Given the description of an element on the screen output the (x, y) to click on. 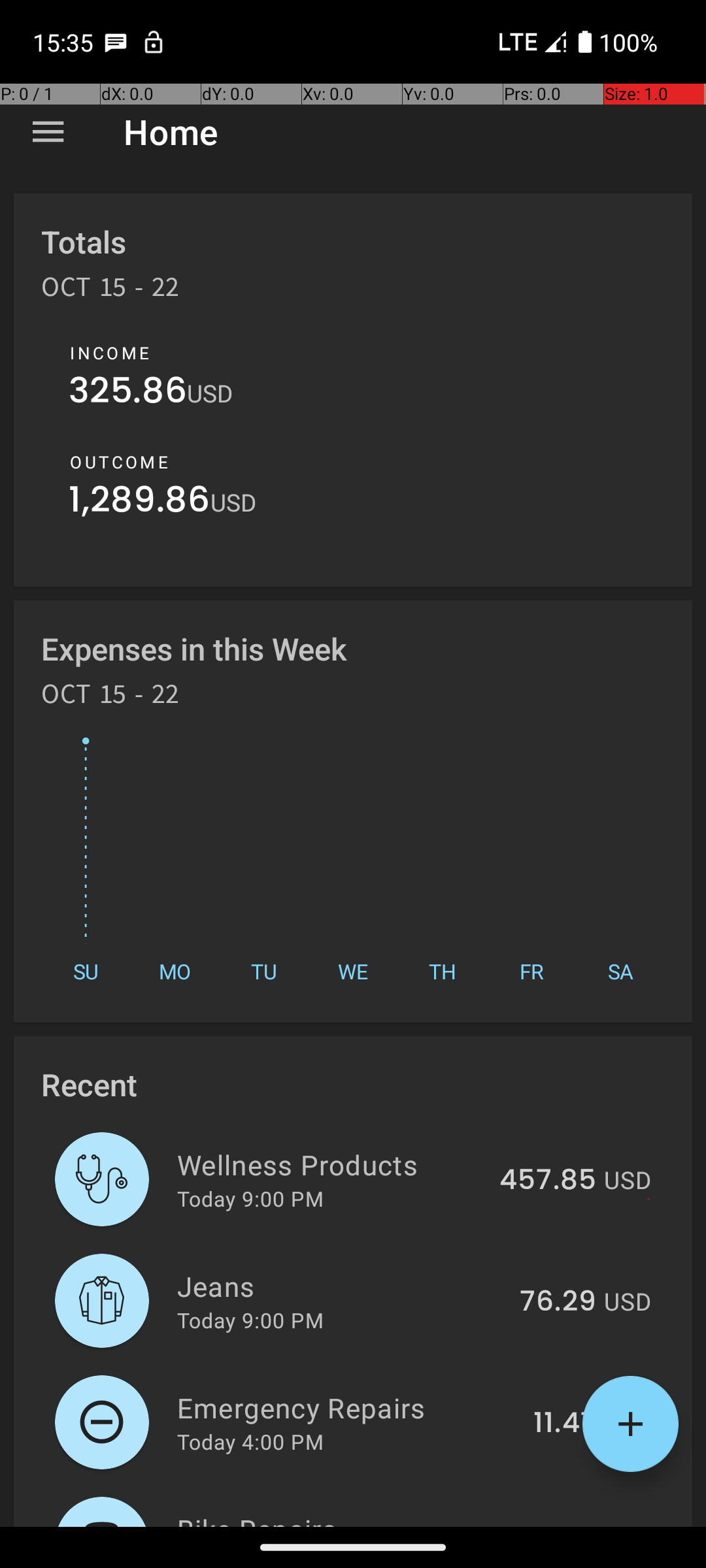
325.86 Element type: android.widget.TextView (127, 393)
1,289.86 Element type: android.widget.TextView (139, 502)
Wellness Products Element type: android.widget.TextView (330, 1164)
Today 9:00 PM Element type: android.widget.TextView (250, 1198)
457.85 Element type: android.widget.TextView (547, 1180)
Jeans Element type: android.widget.TextView (340, 1285)
76.29 Element type: android.widget.TextView (557, 1301)
Emergency Repairs Element type: android.widget.TextView (347, 1407)
Today 4:00 PM Element type: android.widget.TextView (250, 1441)
11.47 Element type: android.widget.TextView (564, 1423)
Bike Repairs Element type: android.widget.TextView (338, 1518)
133.16 Element type: android.widget.TextView (555, 1524)
